Given the description of an element on the screen output the (x, y) to click on. 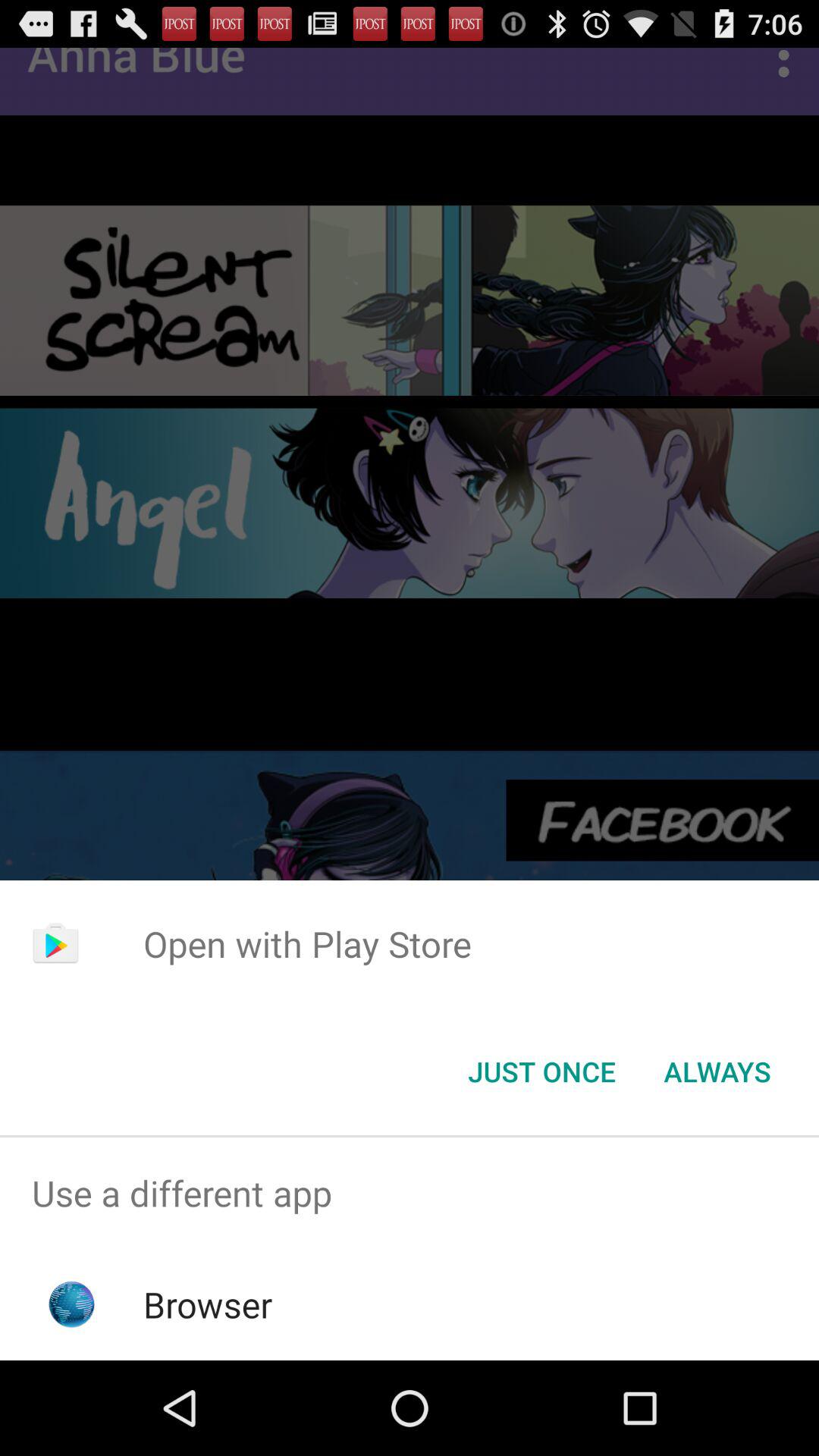
turn on the just once icon (541, 1071)
